Given the description of an element on the screen output the (x, y) to click on. 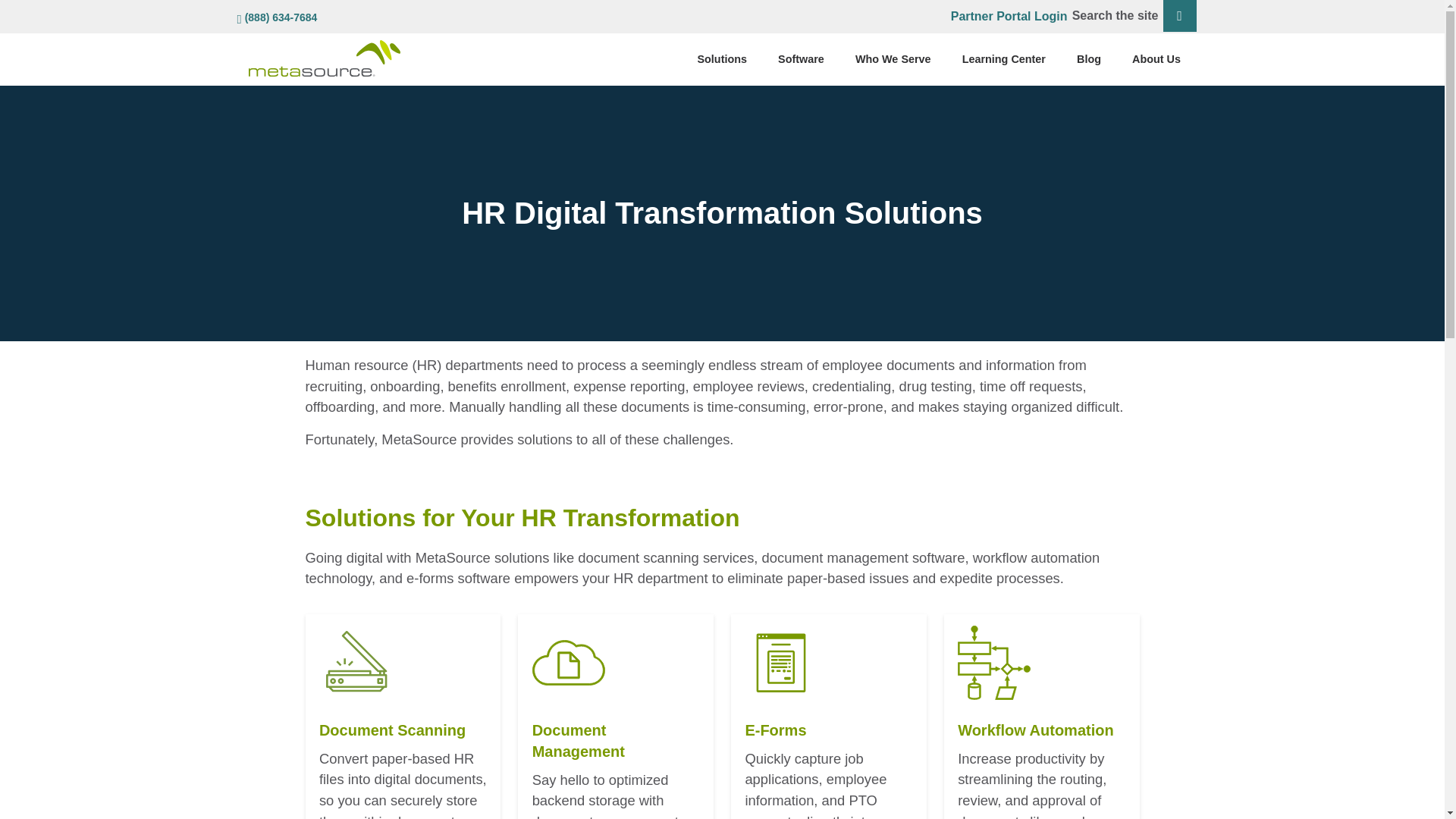
Partner Portal Login (1008, 14)
Software (800, 59)
Solutions (721, 59)
